Given the description of an element on the screen output the (x, y) to click on. 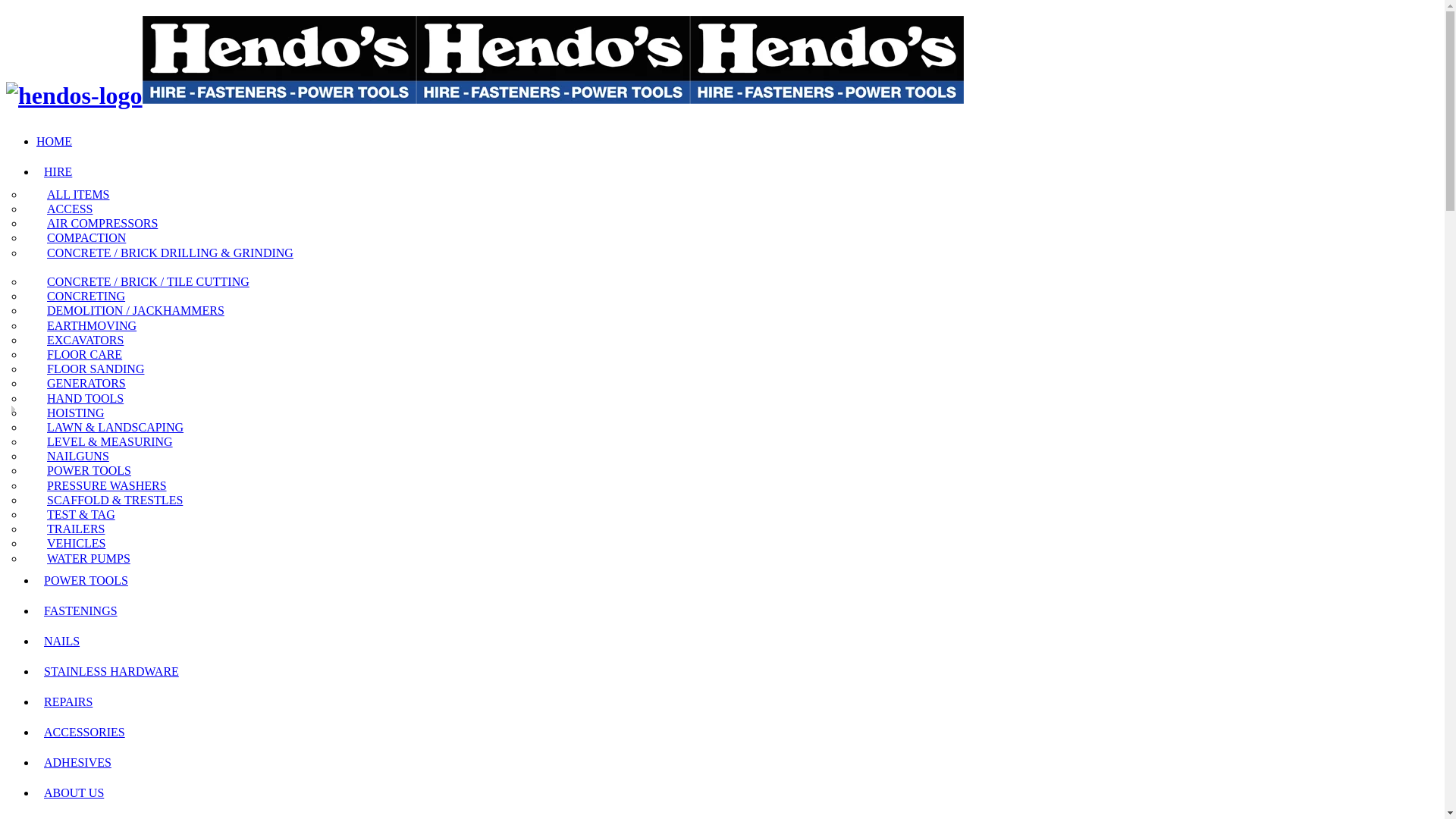
ACCESS Element type: text (65, 208)
FLOOR SANDING Element type: text (91, 368)
POWER TOOLS Element type: text (85, 580)
STAINLESS HARDWARE Element type: text (111, 671)
NAILS Element type: text (61, 640)
HAND TOOLS Element type: text (81, 397)
HOISTING Element type: text (71, 412)
EARTHMOVING Element type: text (87, 325)
ACCESSORIES Element type: text (84, 731)
Hendo's Tools and Hire Element type: hover (484, 95)
EXCAVATORS Element type: text (81, 339)
SCAFFOLD & TRESTLES Element type: text (110, 499)
COMPACTION Element type: text (82, 237)
CONCRETE / BRICK / TILE CUTTING Element type: text (144, 281)
ALL ITEMS Element type: text (74, 194)
TEST & TAG Element type: text (77, 514)
PRESSURE WASHERS Element type: text (103, 485)
ADHESIVES Element type: text (77, 762)
TRAILERS Element type: text (71, 528)
LAWN & LANDSCAPING Element type: text (111, 426)
GENERATORS Element type: text (82, 382)
CONCRETE / BRICK DRILLING & GRINDING Element type: text (158, 259)
ABOUT US Element type: text (73, 792)
FASTENINGS Element type: text (80, 610)
CONCRETING Element type: text (82, 295)
POWER TOOLS Element type: text (85, 470)
VEHICLES Element type: text (72, 542)
WATER PUMPS Element type: text (84, 558)
DEMOLITION / JACKHAMMERS Element type: text (131, 310)
REPAIRS Element type: text (68, 701)
AIR COMPRESSORS Element type: text (98, 222)
NAILGUNS Element type: text (74, 455)
FLOOR CARE Element type: text (80, 354)
HIRE Element type: text (57, 171)
HOME Element type: text (57, 140)
LEVEL & MEASURING Element type: text (106, 441)
